Given the description of an element on the screen output the (x, y) to click on. 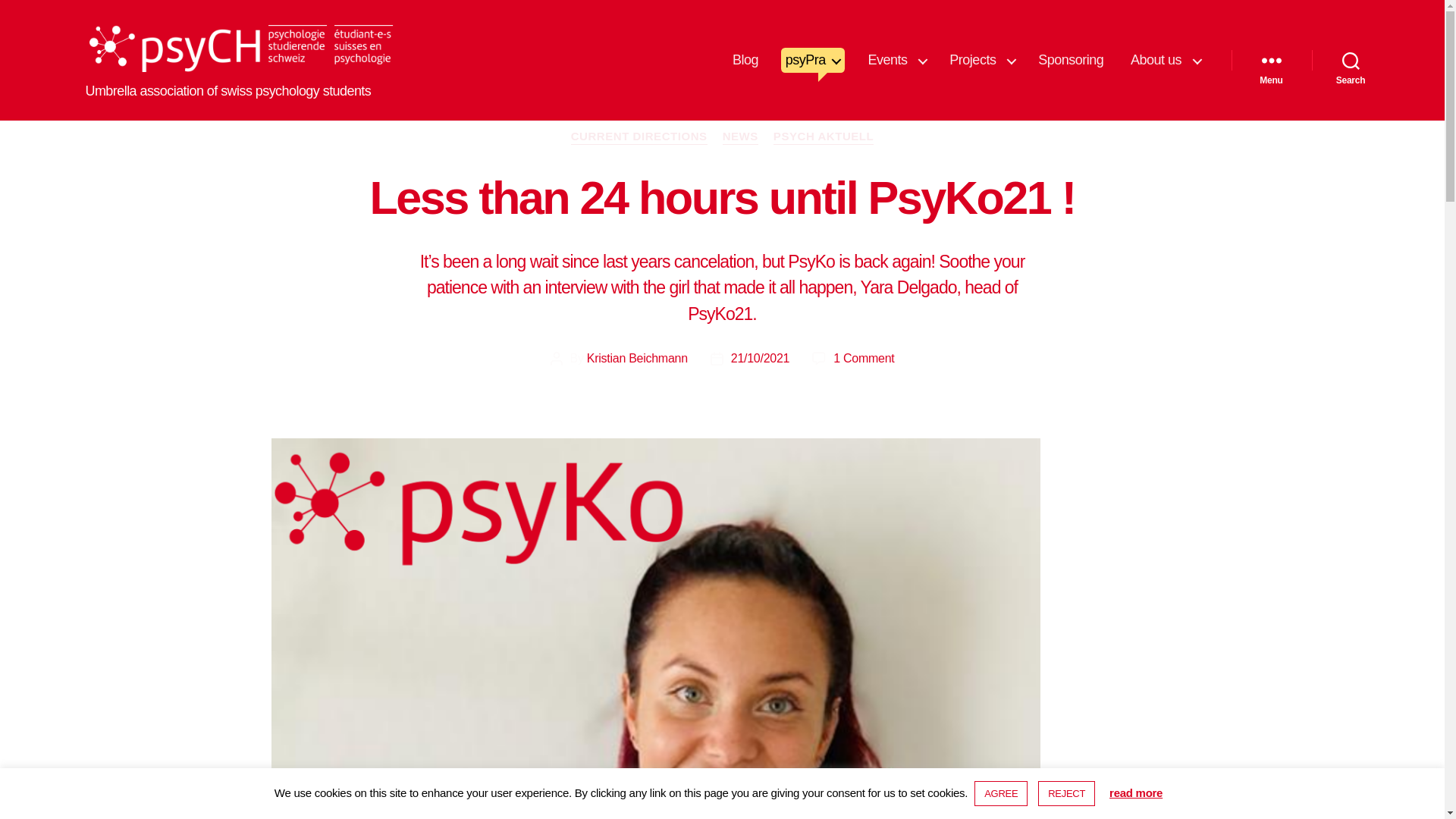
Projects (979, 60)
Events (895, 60)
Search (1350, 60)
psyPra (813, 60)
Sponsoring (1070, 60)
Blog (745, 60)
Menu (1271, 60)
About us (1163, 60)
